Given the description of an element on the screen output the (x, y) to click on. 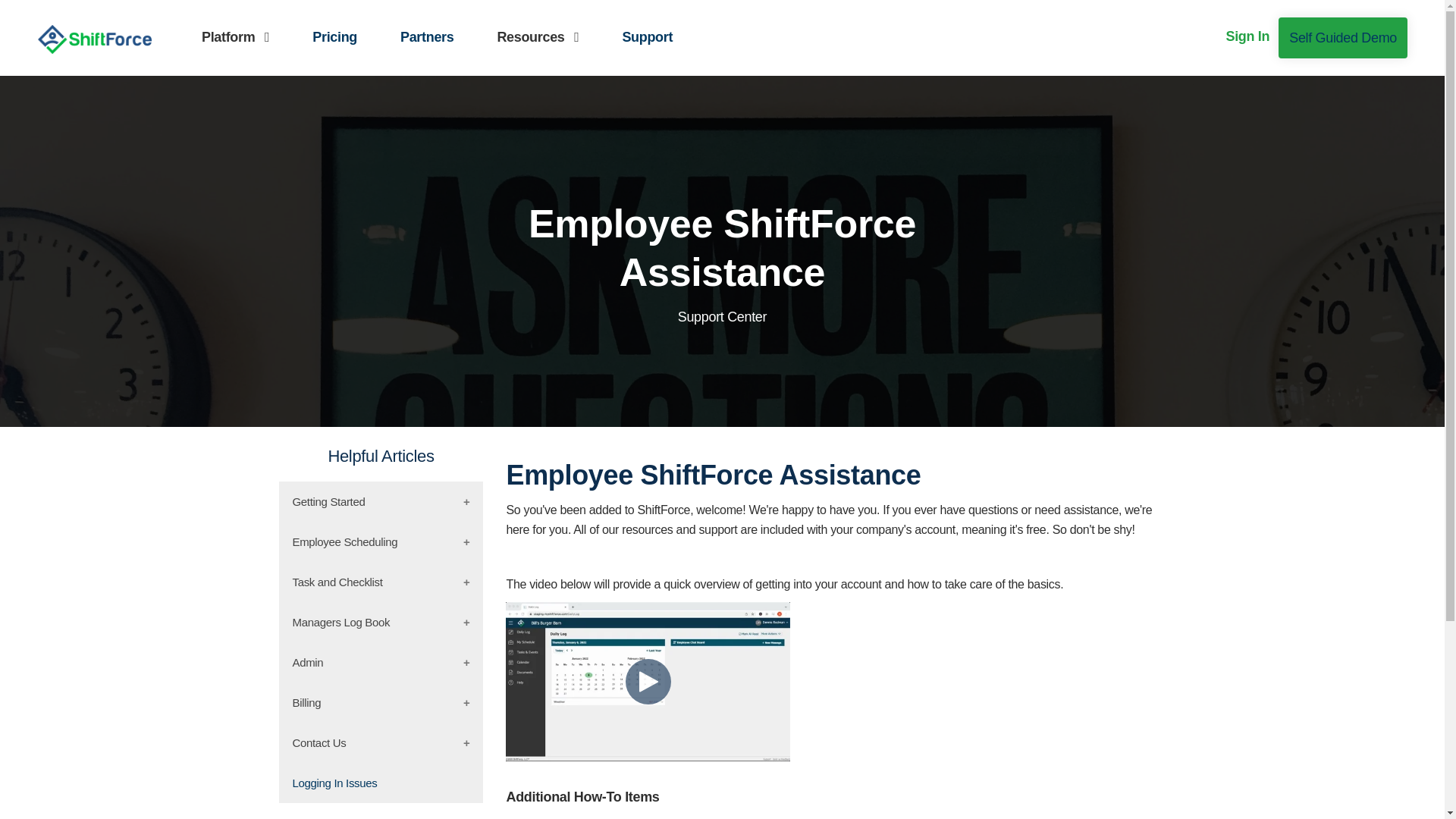
Employee Scheduling (381, 541)
Sign In (1248, 36)
Platform (235, 37)
Resources (537, 37)
Support (646, 37)
Partners (426, 37)
HubSpot Video (647, 681)
Self Guided Demo (1342, 37)
Getting Started (381, 501)
Partners (426, 37)
Support (647, 37)
Pricing (334, 37)
Pricing (334, 37)
